Given the description of an element on the screen output the (x, y) to click on. 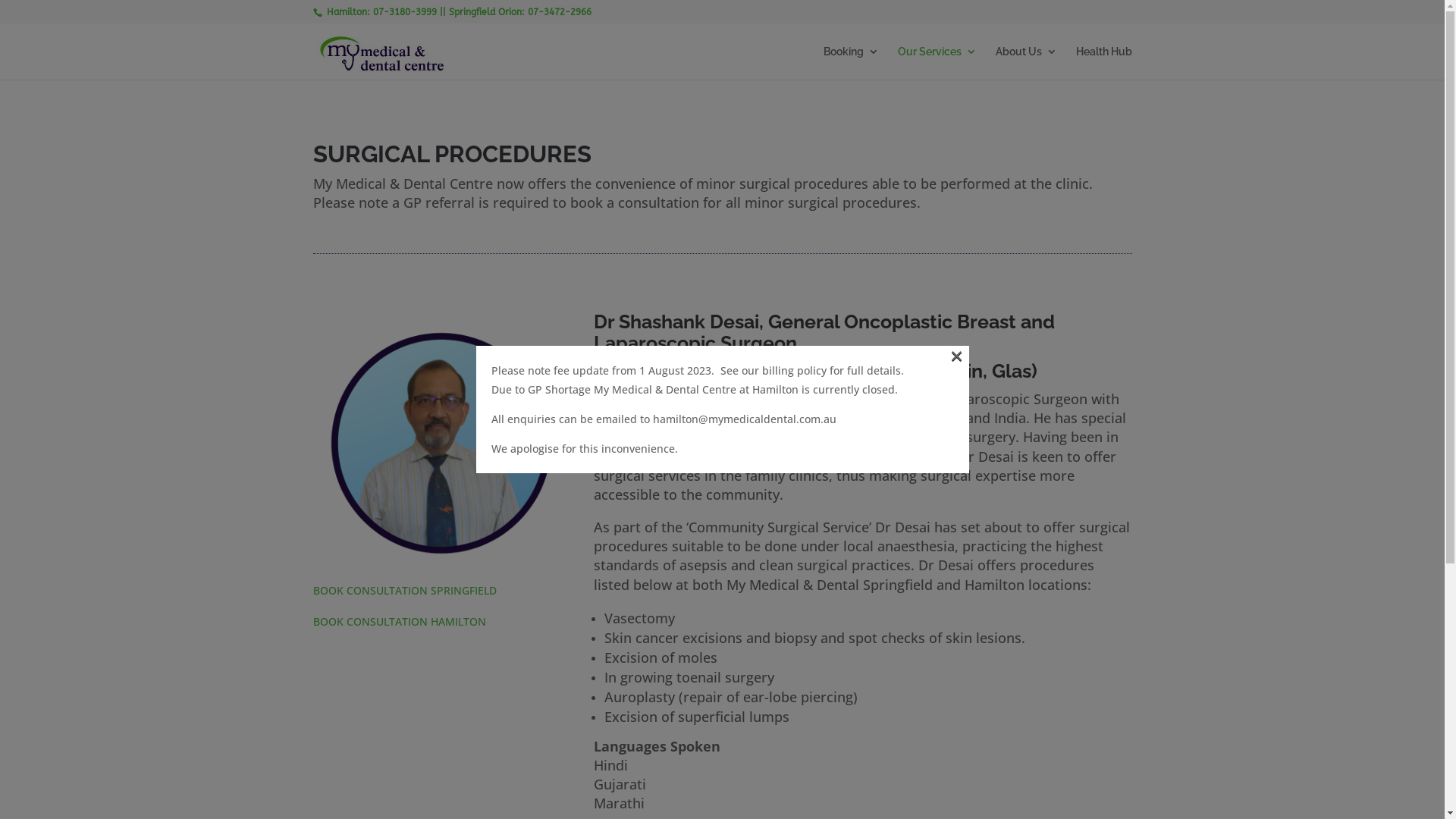
Health Hub Element type: text (1103, 62)
07-3180-3999 Element type: text (404, 11)
BOOK CONSULTATION HAMILTON Element type: text (398, 621)
About Us Element type: text (1025, 62)
07-3472-2966 Element type: text (559, 11)
BOOK CONSULTATION SPRINGFIELD Element type: text (403, 590)
Booking Element type: text (850, 62)
Our Services Element type: text (936, 62)
